Given the description of an element on the screen output the (x, y) to click on. 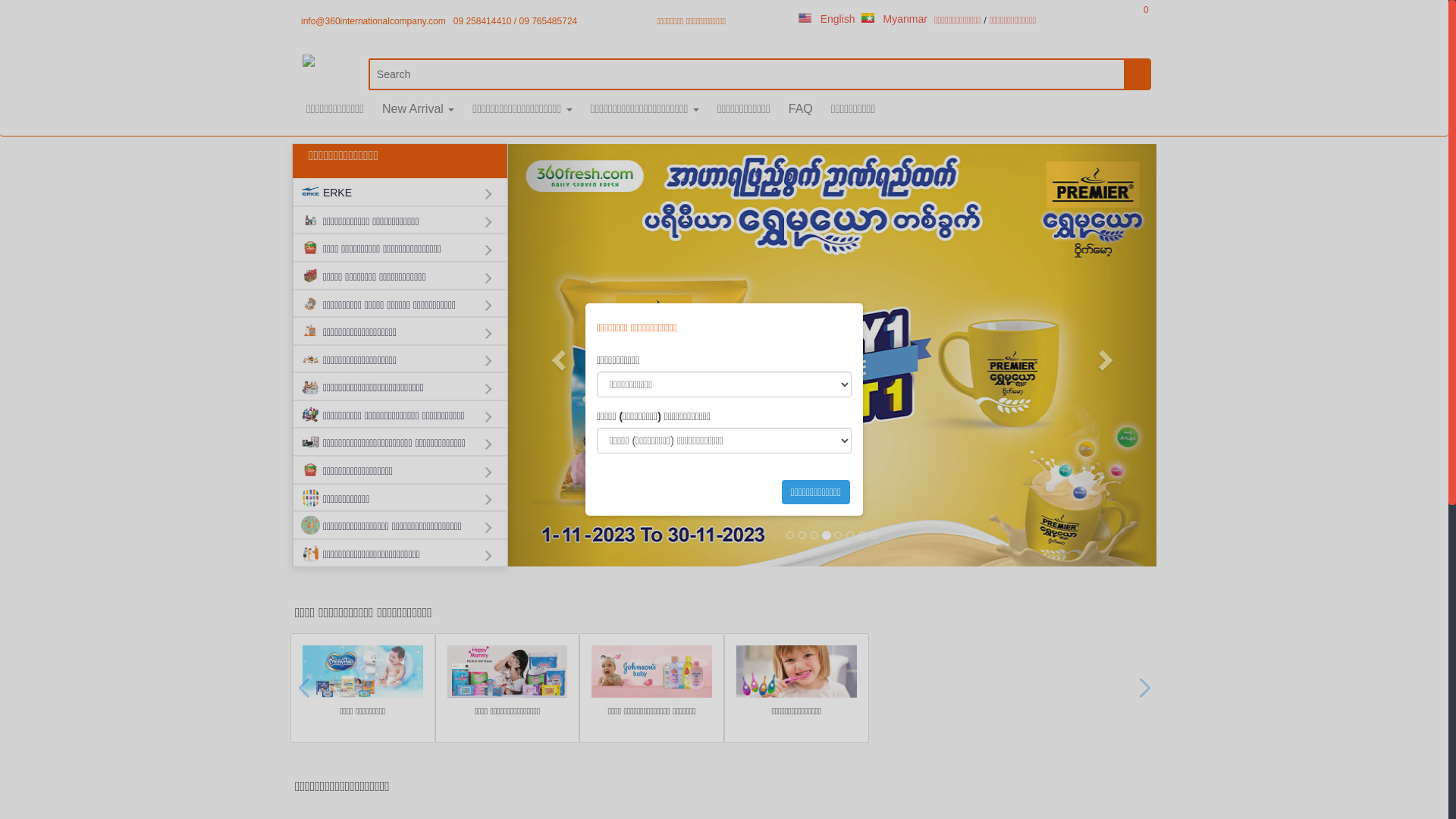
FAQ Element type: text (800, 109)
English Element type: text (826, 18)
Search Element type: hover (746, 73)
New Arrival Element type: text (418, 109)
Myanmar Element type: text (894, 18)
Next Element type: text (1107, 355)
09 258414410 / 09 765485724 Element type: text (515, 20)
info@360internationalcompany.com Element type: text (373, 20)
Previous Element type: text (556, 355)
ERKE Element type: text (399, 192)
